Given the description of an element on the screen output the (x, y) to click on. 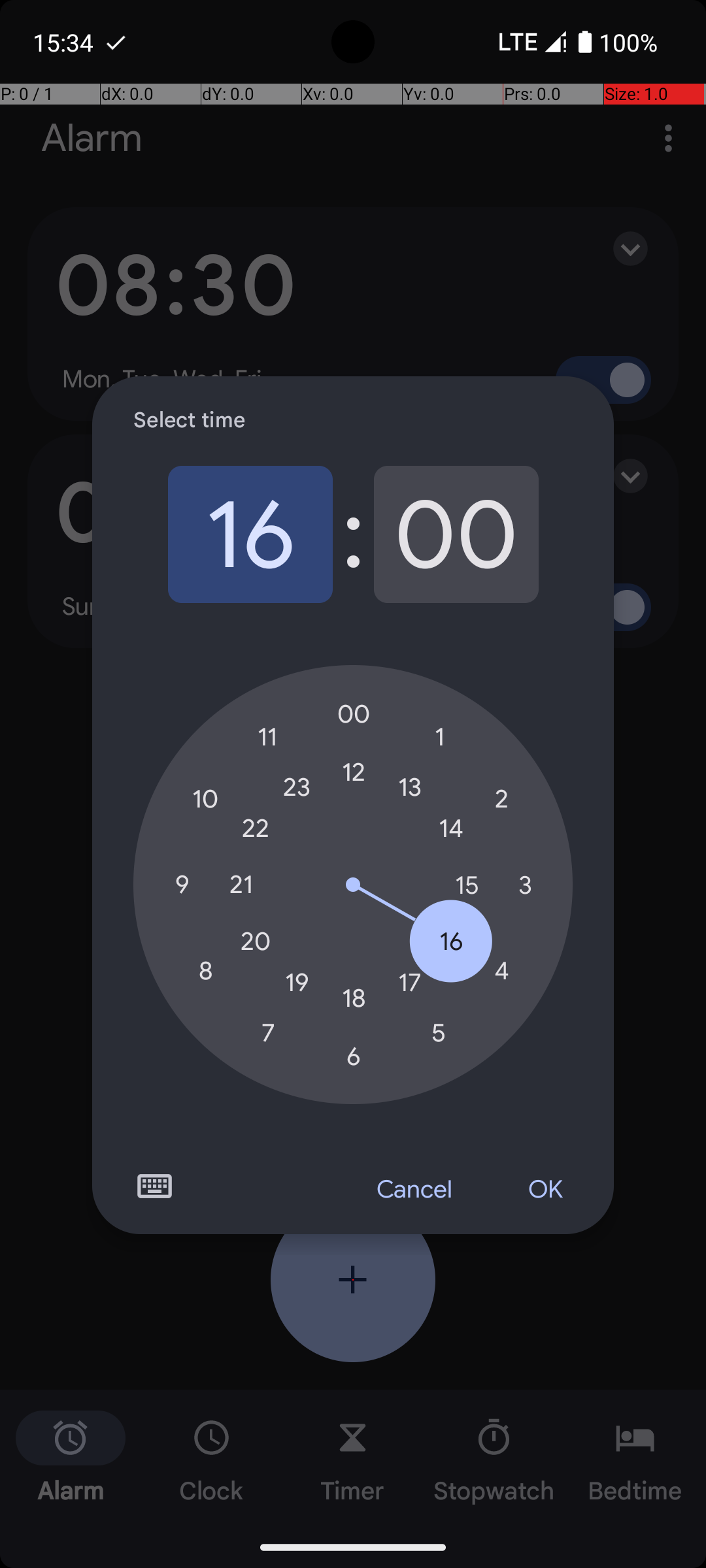
Contacts notification: Finished exporting contacts.vcf. Element type: android.widget.ImageView (115, 41)
